Given the description of an element on the screen output the (x, y) to click on. 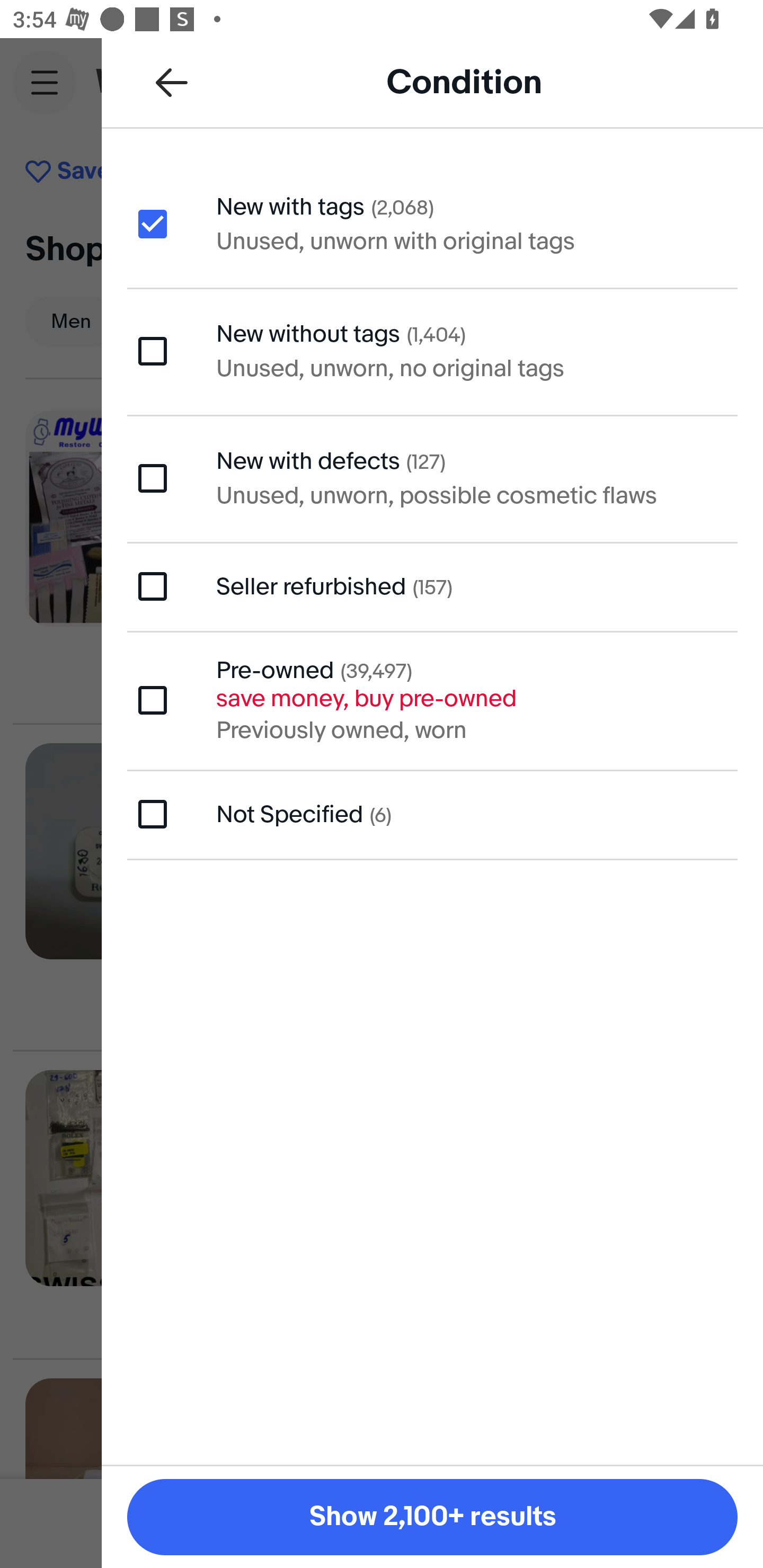
Back to all refinements (171, 81)
Seller refurbished (157) (432, 586)
Not Specified (6) (432, 814)
Show 2,100+ results (432, 1516)
